Given the description of an element on the screen output the (x, y) to click on. 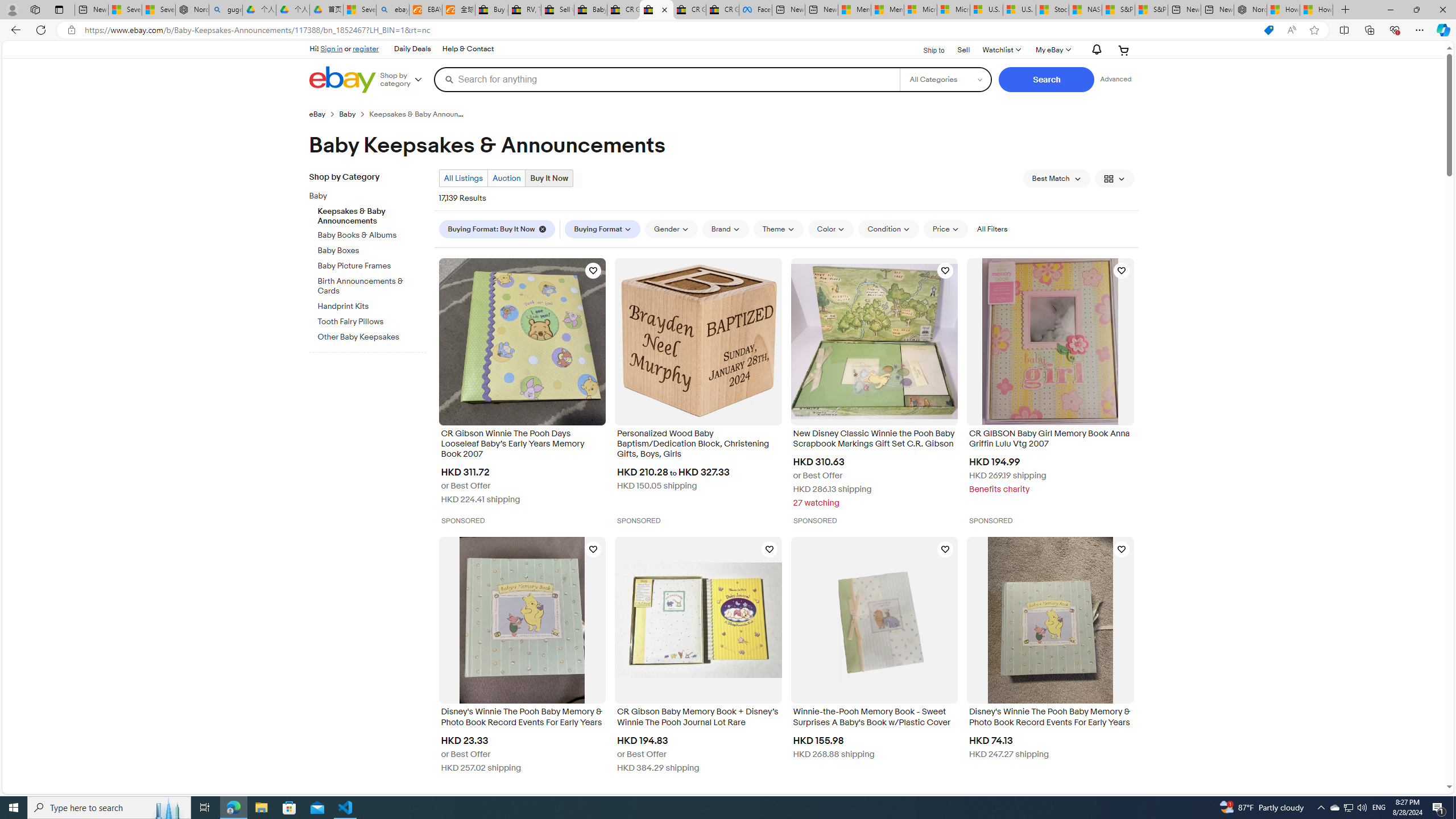
Handprint Kits (371, 306)
View: Gallery View (1114, 178)
Auction (506, 178)
eBay Home (341, 79)
Price (945, 229)
Baby (362, 196)
Sell (963, 49)
